Given the description of an element on the screen output the (x, y) to click on. 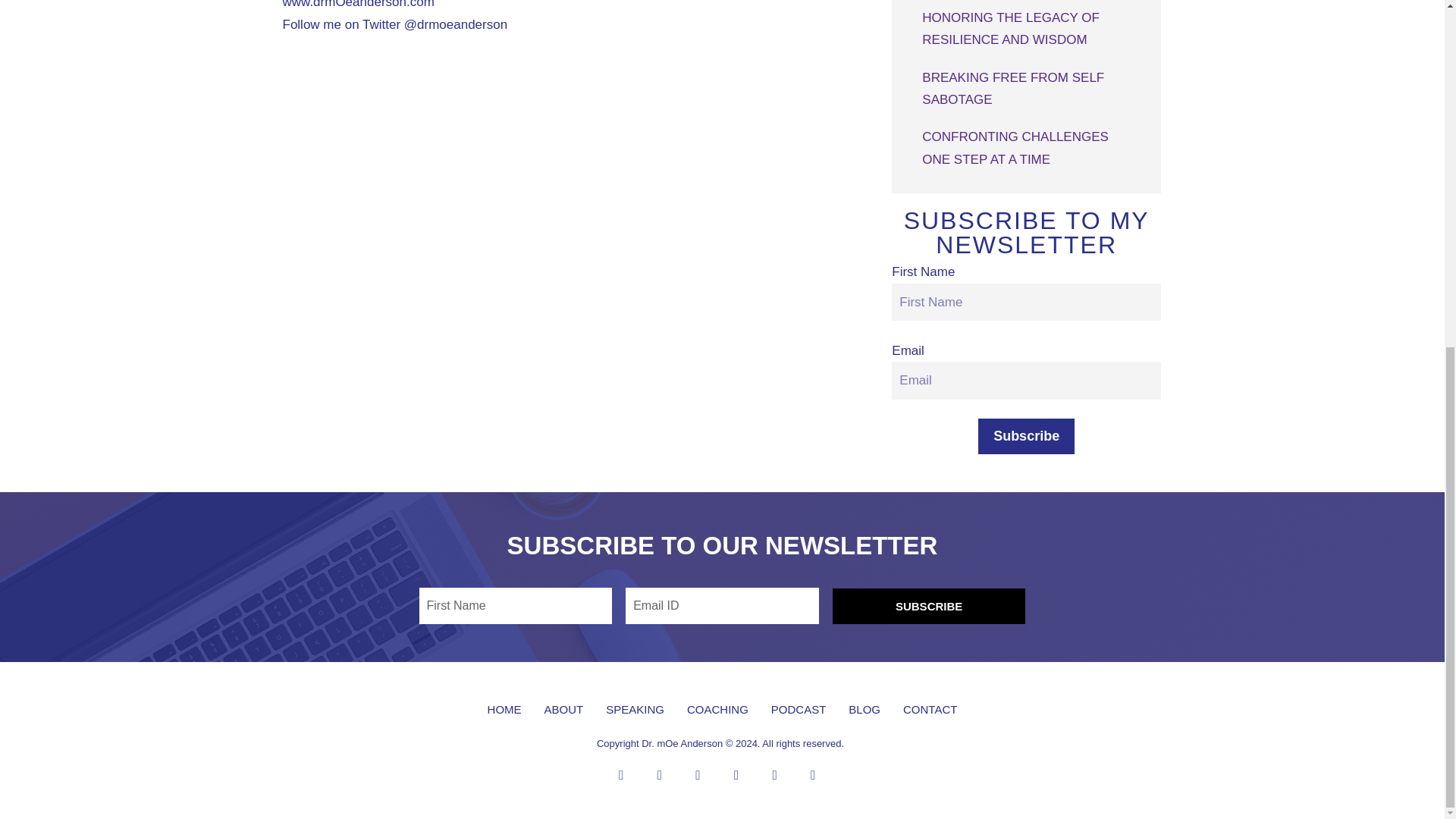
Subscribe (1026, 436)
BREAKING FREE FROM SELF SABOTAGE (1012, 88)
HOME (504, 708)
CONFRONTING CHALLENGES ONE STEP AT A TIME (1014, 147)
SUBSCRIBE (929, 606)
